Given the description of an element on the screen output the (x, y) to click on. 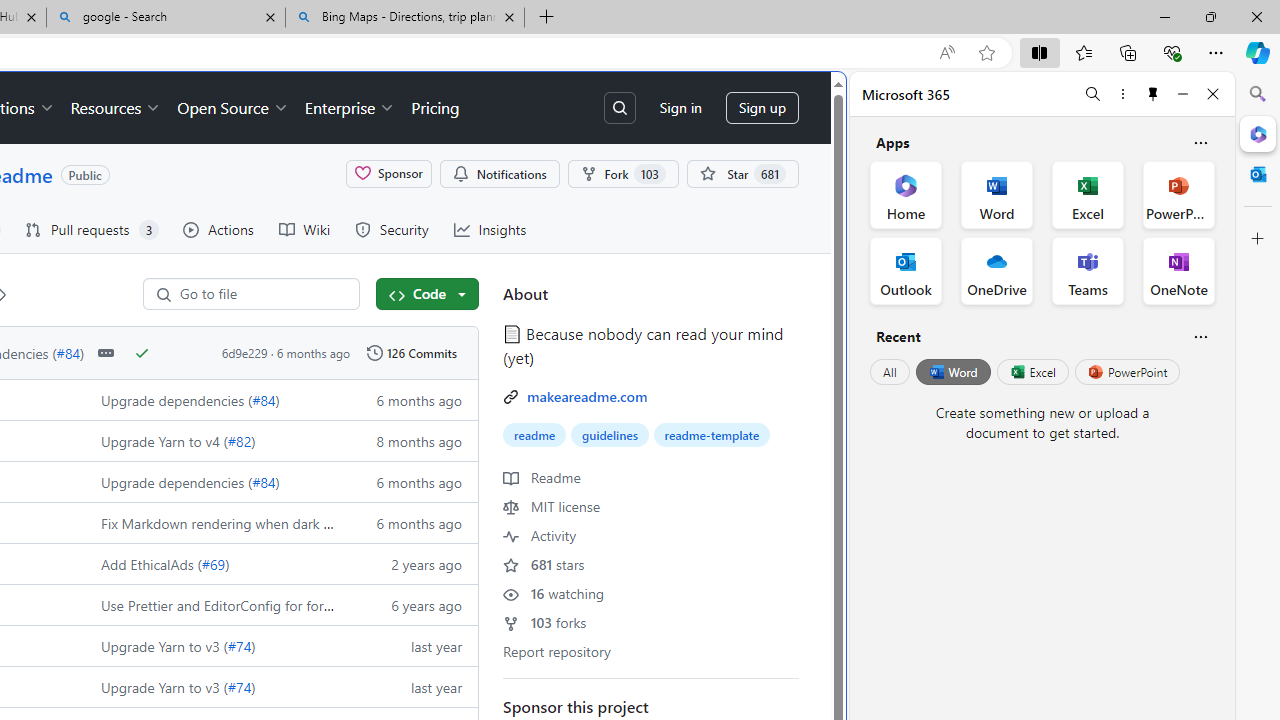
Use Prettier and EditorConfig for formatting (212, 603)
readme-template (711, 435)
You must be signed in to star a repository (742, 173)
success (142, 353)
Add EthicalAds ( (151, 563)
Upgrade Yarn to v4 ( (164, 440)
Fork 103 (622, 173)
Enterprise (349, 107)
 Readme (542, 476)
#69 (213, 563)
#84 (264, 481)
Sign in (680, 107)
